Given the description of an element on the screen output the (x, y) to click on. 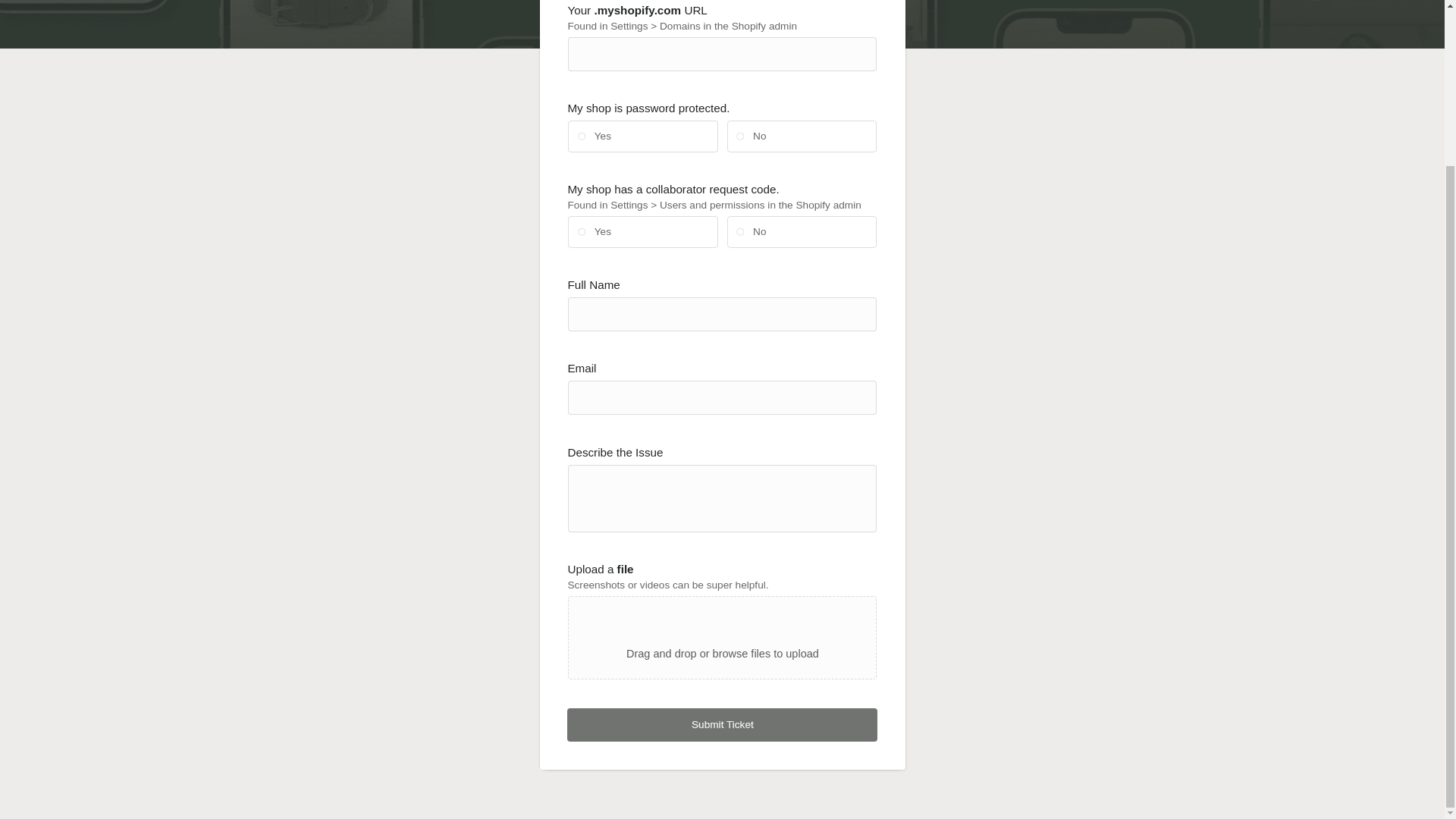
Yes (577, 228)
Submit Ticket (722, 724)
Yes (577, 132)
No (737, 132)
No (737, 228)
